Given the description of an element on the screen output the (x, y) to click on. 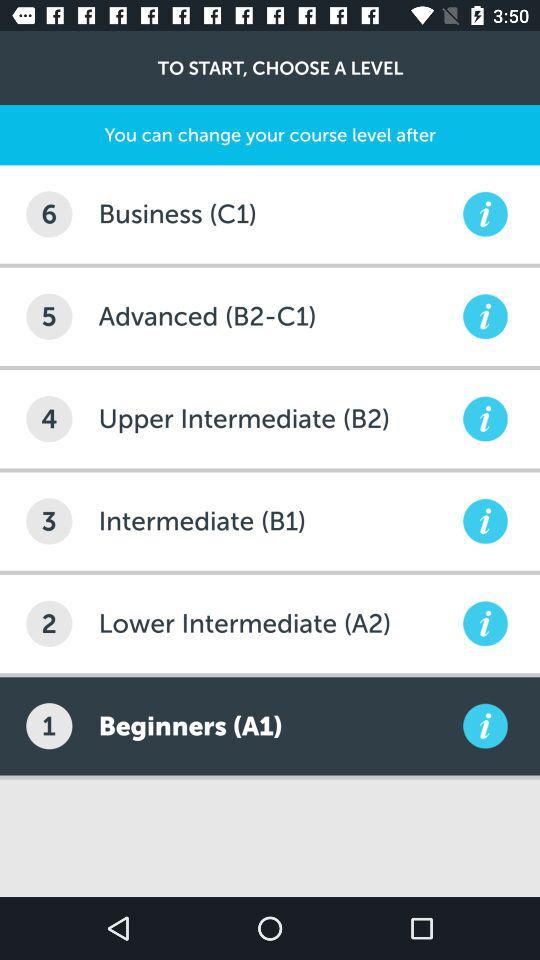
tap item at the bottom left corner (49, 726)
